Given the description of an element on the screen output the (x, y) to click on. 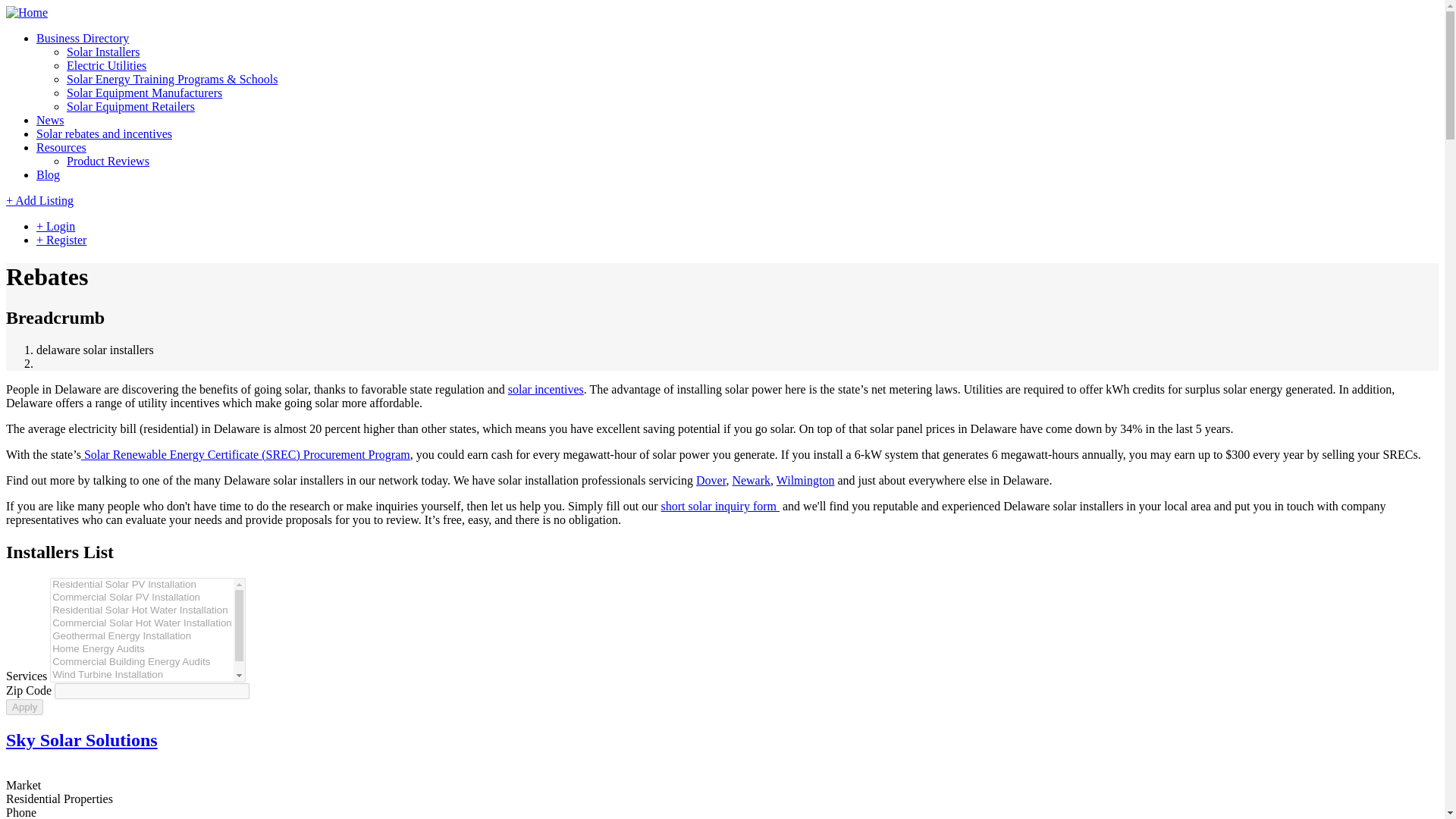
Solar Energy News (50, 119)
Product Reviews (107, 160)
Resources (60, 146)
Newark (751, 480)
Our national directory of solar energy installation pros (102, 51)
Wilmington (805, 480)
Solar Equipment Retailers (130, 106)
Solar Installers (102, 51)
Solar rebates and incentives (103, 133)
